Given the description of an element on the screen output the (x, y) to click on. 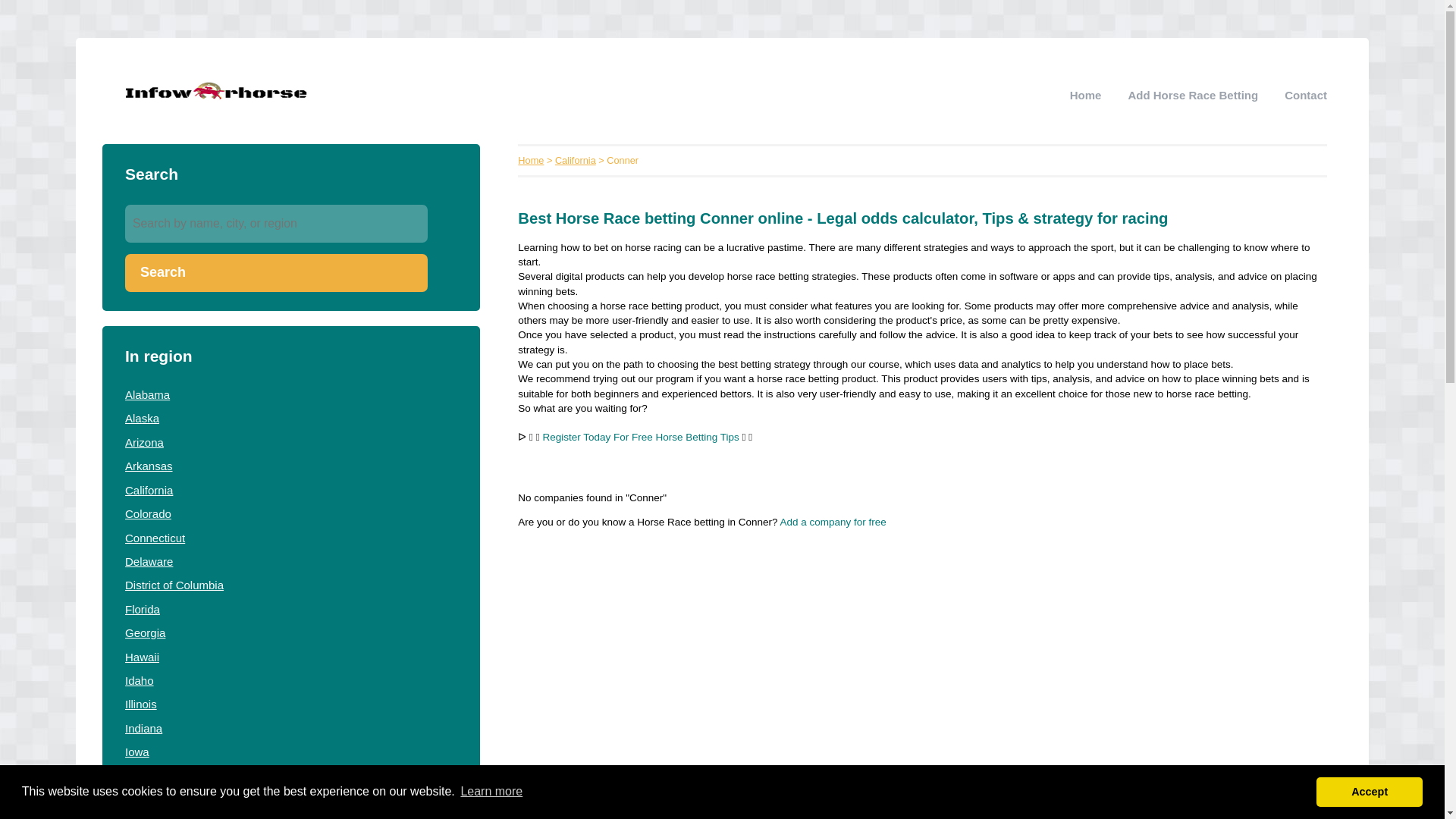
Accept (1369, 791)
Alaska (141, 418)
Arizona (144, 441)
Idaho (139, 680)
Iowa (137, 751)
Colorado (148, 513)
Alabama (147, 394)
Florida (142, 608)
Add Horse Race Betting (1191, 94)
Connecticut (154, 536)
Indiana (143, 727)
California (149, 490)
Home (1086, 94)
Louisiana (149, 818)
Learn more (491, 791)
